Given the description of an element on the screen output the (x, y) to click on. 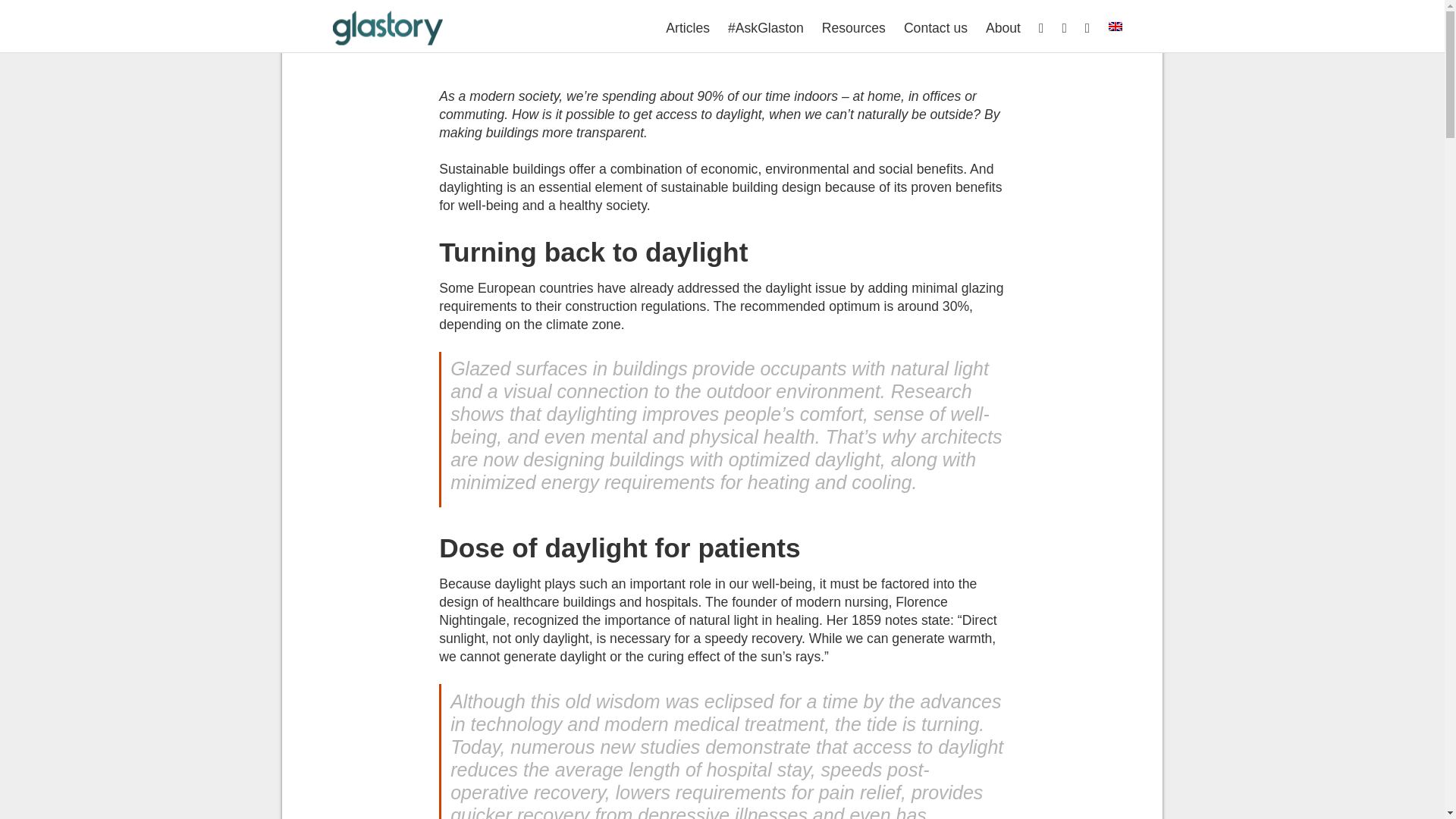
sustainable (657, 46)
daylight (572, 27)
well-being (967, 46)
energy efficiency (849, 27)
Glastory (387, 44)
building (509, 27)
About (1002, 27)
printed glass (483, 46)
Resources (853, 27)
safety glass (572, 46)
environmental (955, 27)
trends (900, 46)
Articles (687, 27)
Glastory -  (387, 44)
architectural (433, 27)
